Given the description of an element on the screen output the (x, y) to click on. 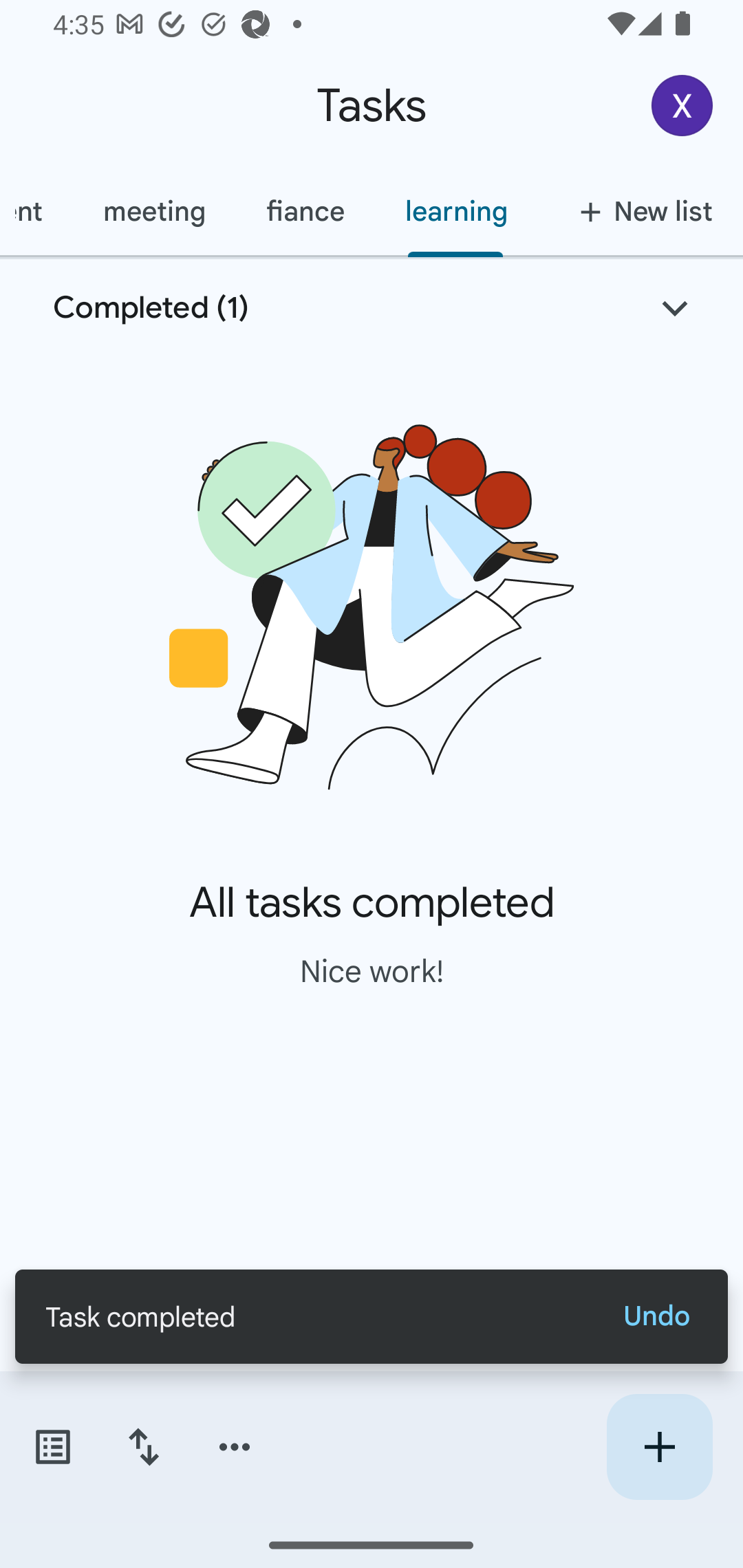
meeting (153, 211)
fiance (304, 211)
New list (640, 211)
Completed (1) (371, 307)
Undo (656, 1316)
Switch task lists (52, 1447)
Create new task (659, 1446)
Change sort order (143, 1446)
More options (234, 1446)
